Given the description of an element on the screen output the (x, y) to click on. 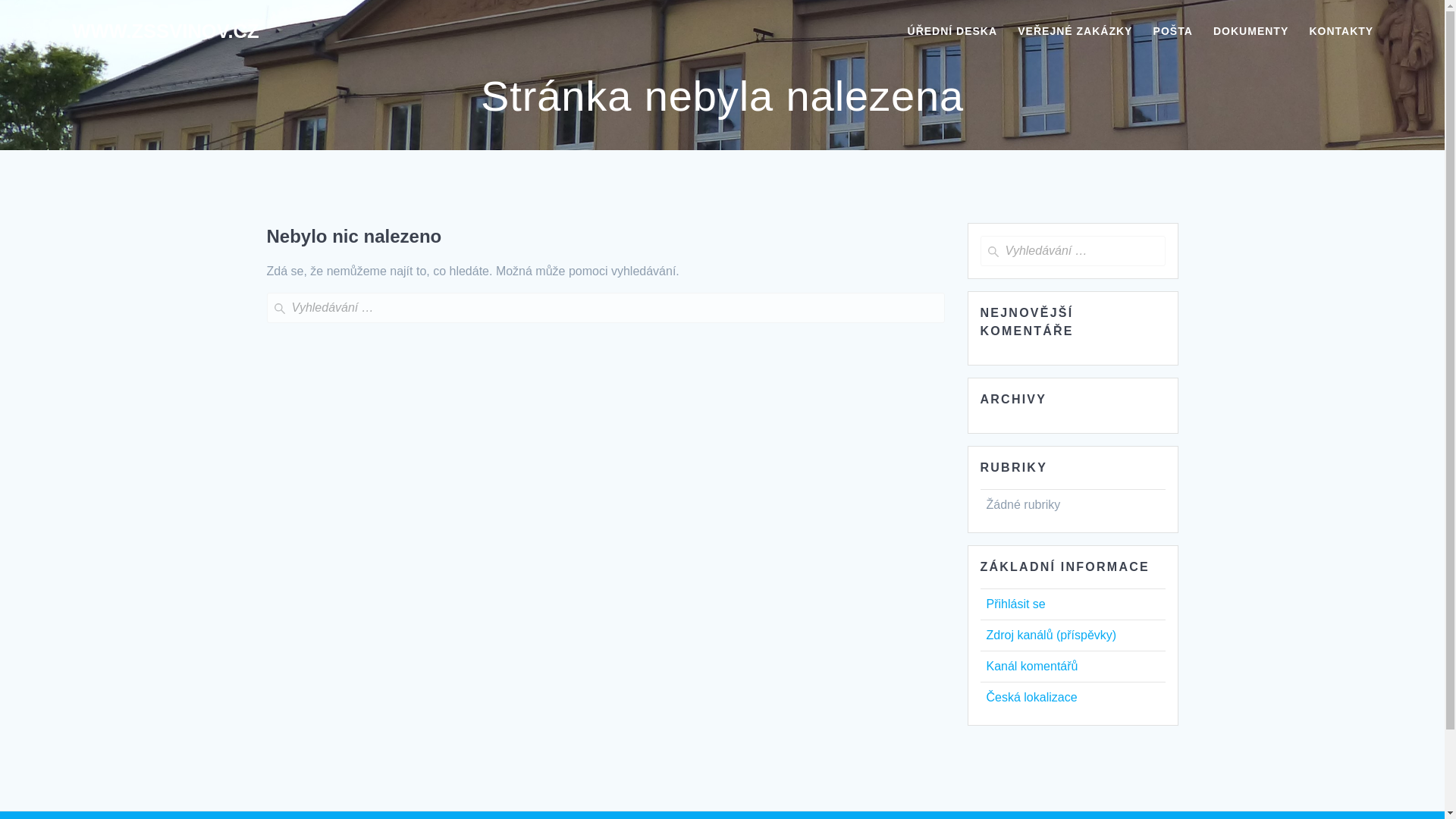
KONTAKTY (1340, 31)
WWW.ZSSVINOV.CZ (165, 31)
DOKUMENTY (1250, 31)
